Given the description of an element on the screen output the (x, y) to click on. 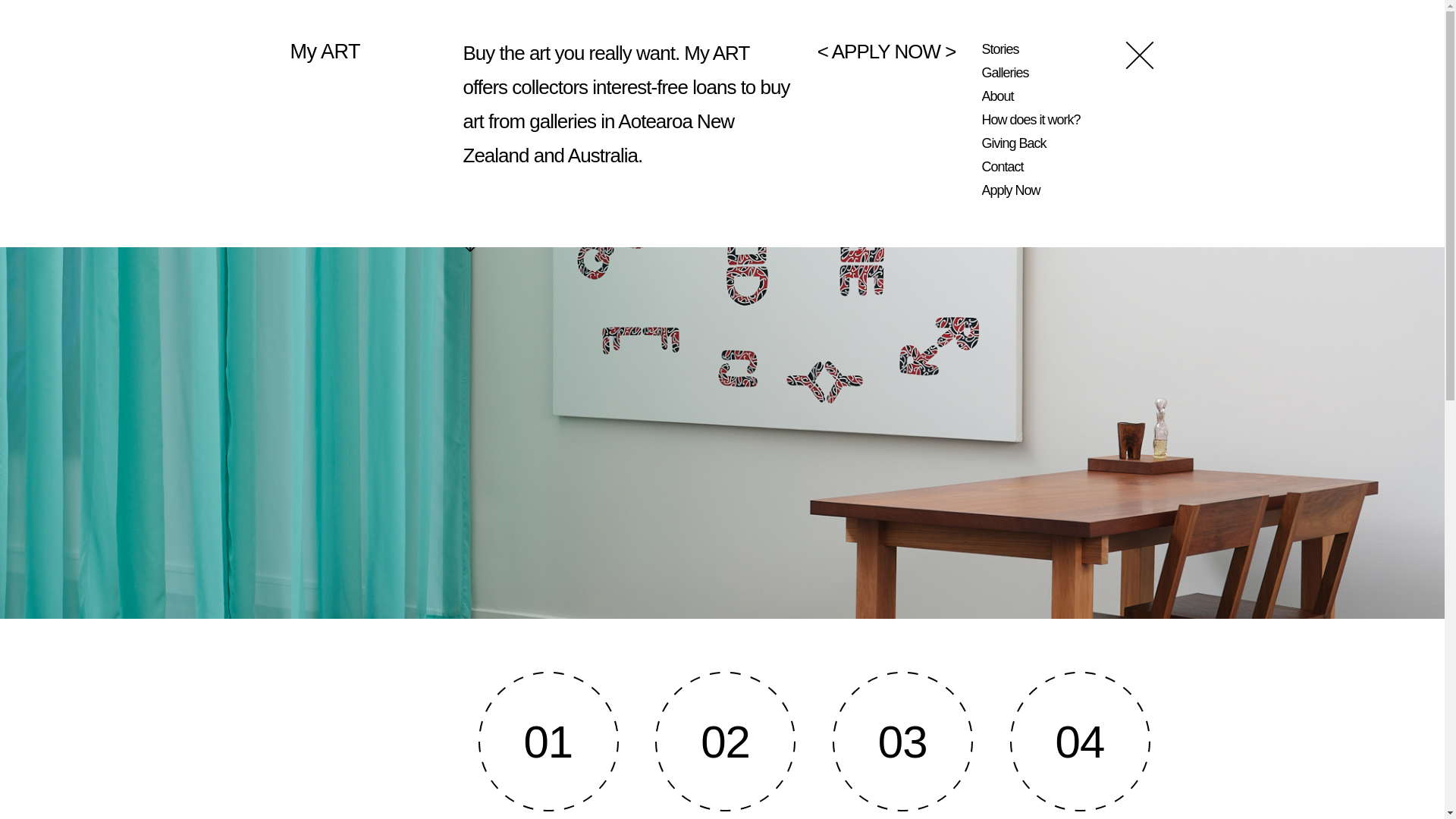
Stories (999, 48)
Contact (1002, 166)
How does it work? (1030, 119)
Giving Back (1013, 142)
My ART (324, 51)
Galleries (1004, 72)
About (997, 96)
Apply Now (1010, 190)
Gallery: Season (635, 62)
